Given the description of an element on the screen output the (x, y) to click on. 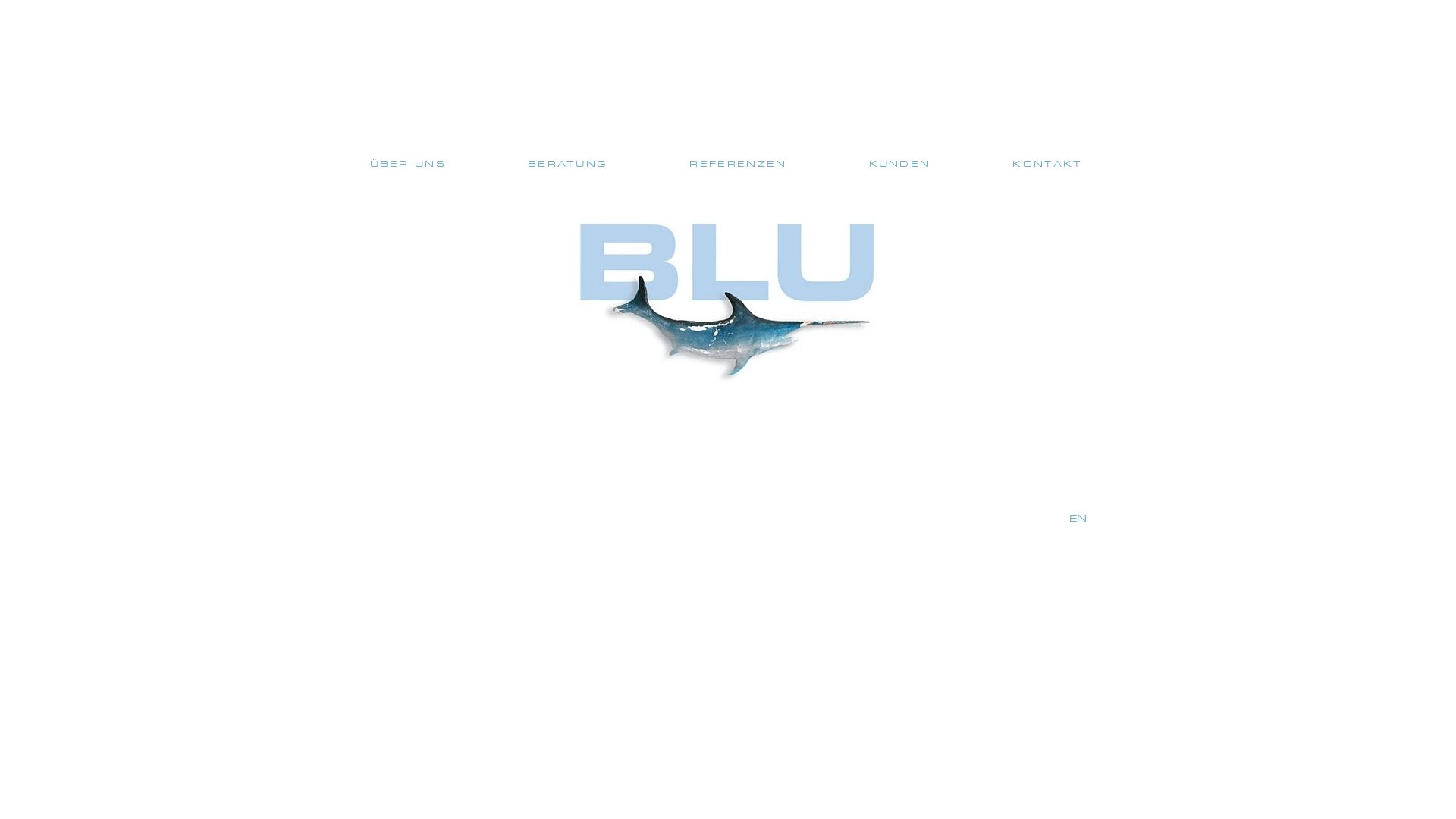
REFERENZEN Element type: text (737, 164)
EN Element type: text (1077, 519)
BERATUNG Element type: text (567, 164)
KONTAKT Element type: text (1047, 164)
KUNDEN Element type: text (900, 164)
